Given the description of an element on the screen output the (x, y) to click on. 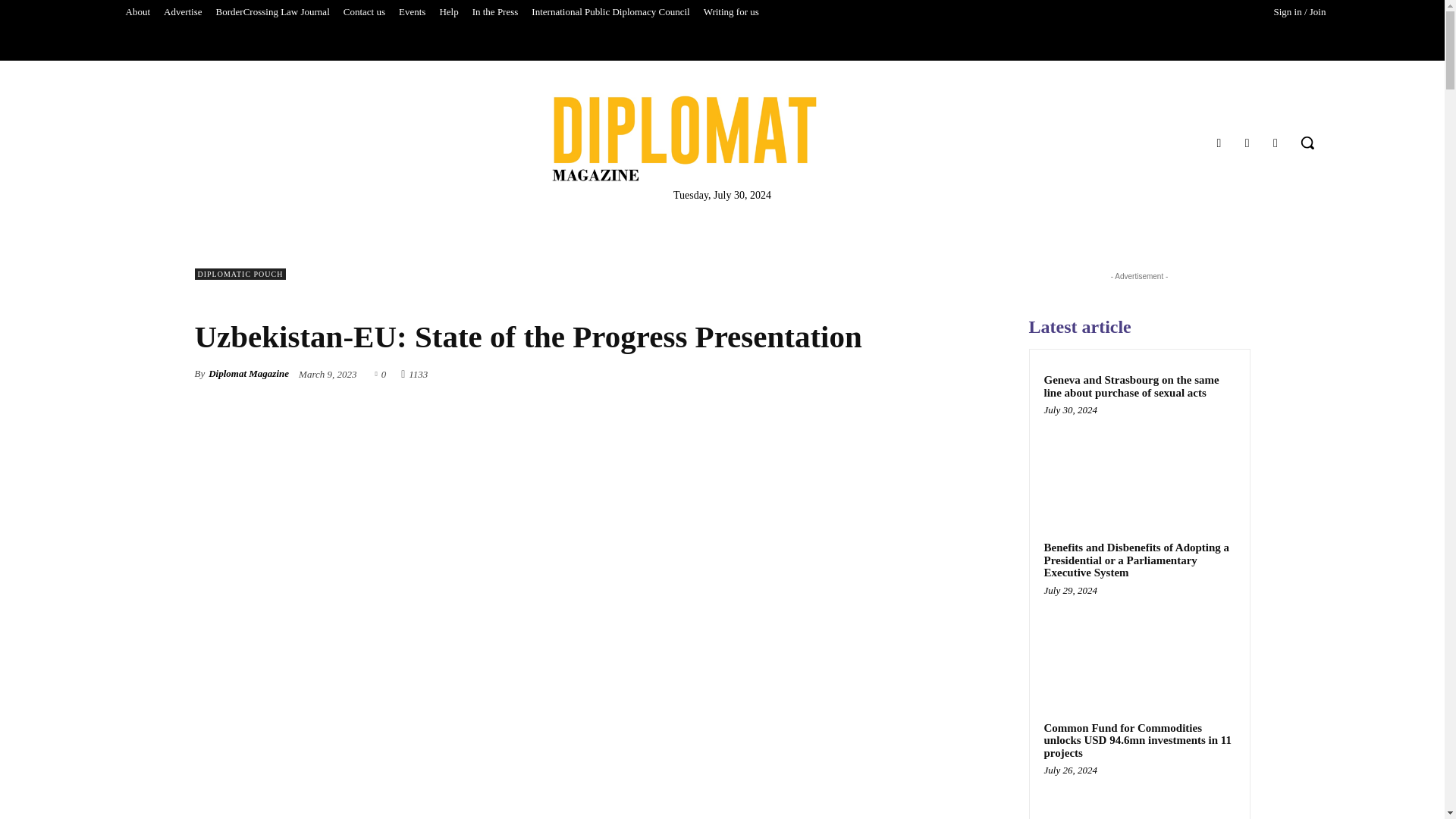
Contact us (363, 12)
Events (411, 12)
Help (448, 12)
Facebook (1218, 142)
About (137, 12)
Diplomat Magazine (683, 138)
BorderCrossing Law Journal (272, 12)
Twitter (1275, 142)
International Public Diplomacy Council (609, 12)
Advertise (183, 12)
In the Press (495, 12)
Instagram (1246, 142)
Diplomat Magazine (721, 138)
Writing for us (731, 12)
